Given the description of an element on the screen output the (x, y) to click on. 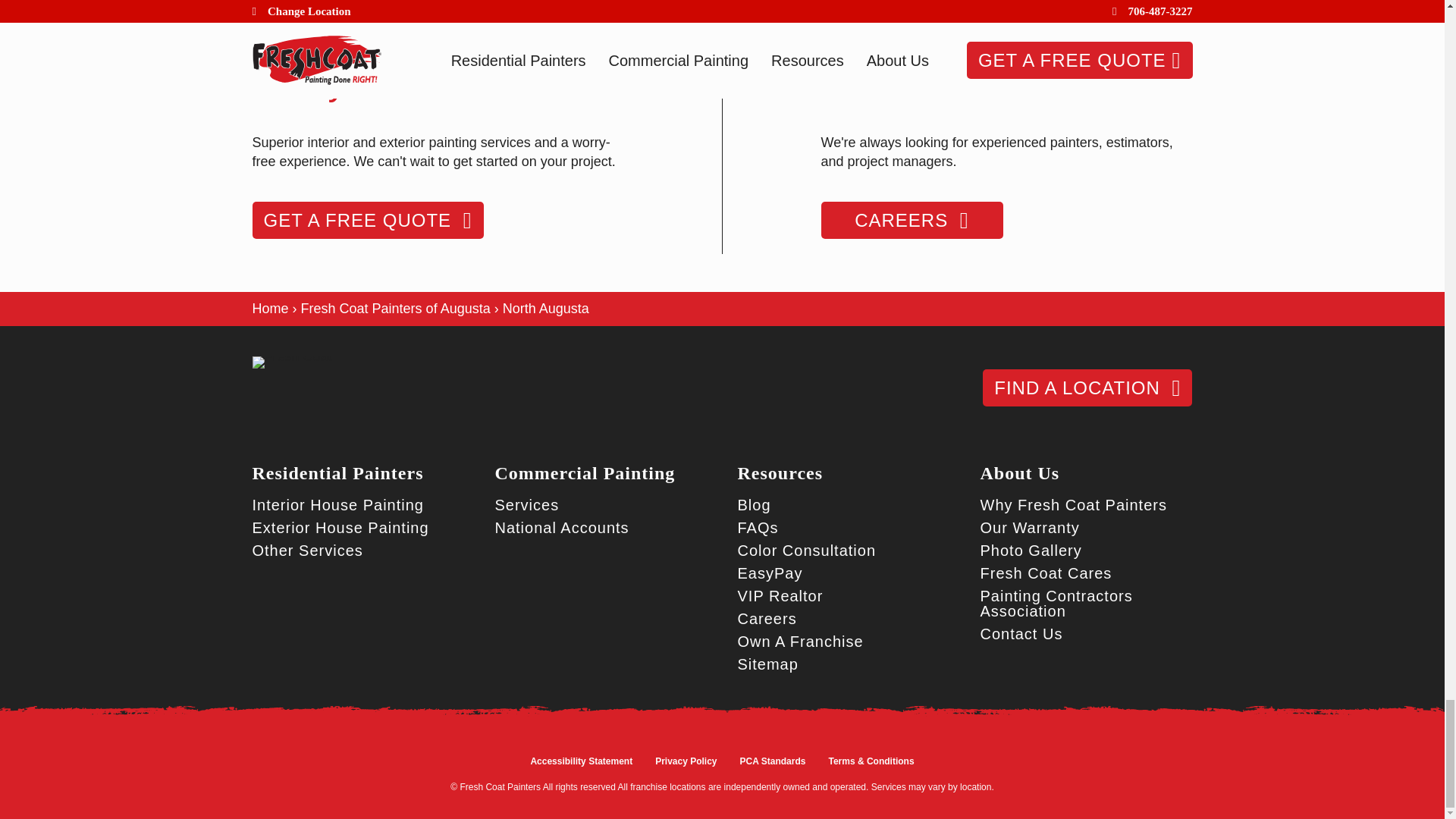
Fresh Coat (291, 362)
Home (269, 308)
Fresh Coat Painters of Augusta (395, 308)
